Given the description of an element on the screen output the (x, y) to click on. 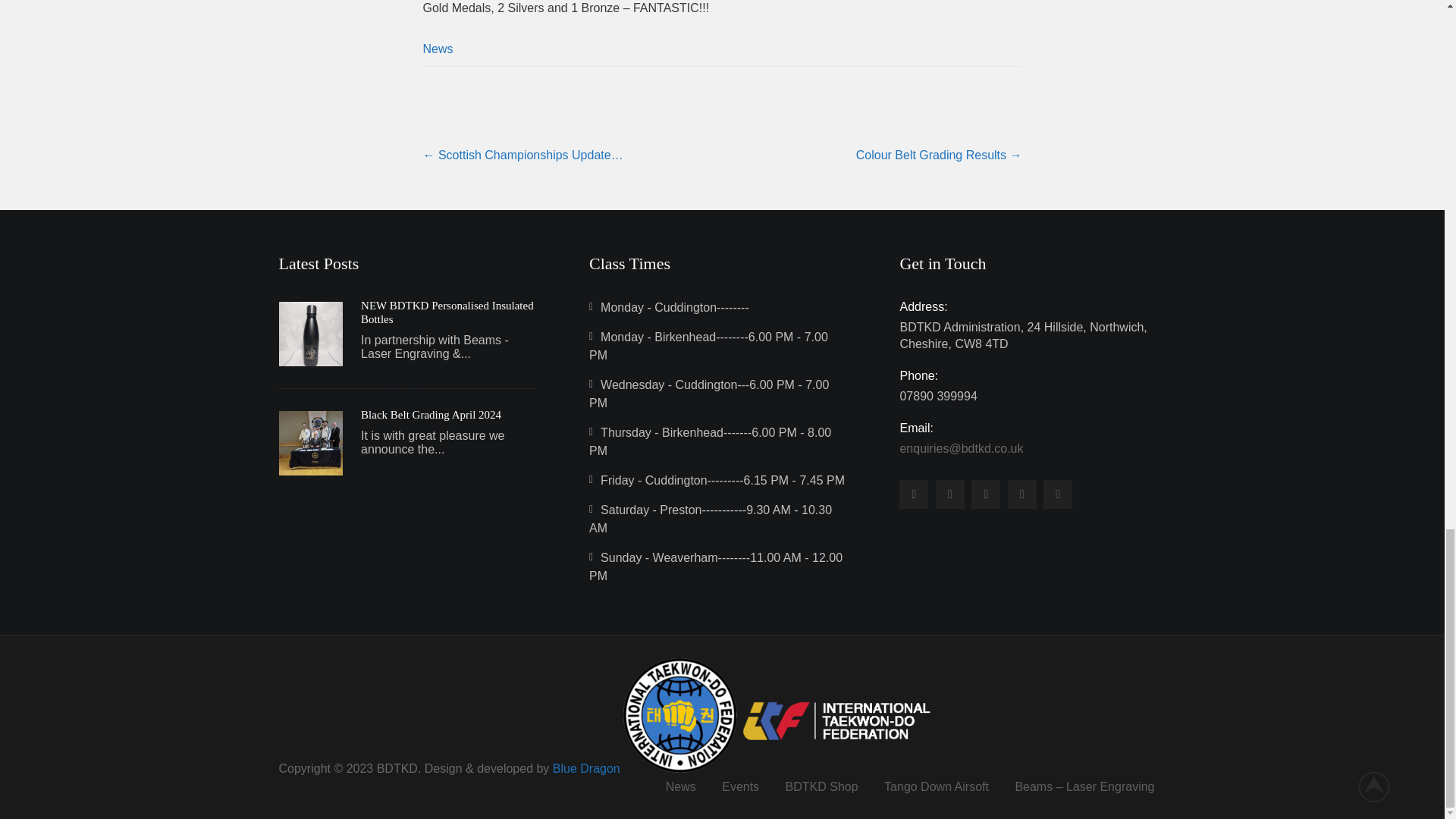
News (680, 787)
Black Belt Grading April 2024 (430, 414)
fab fa-twitter (913, 493)
NEW BDTKD Personalised Insulated Bottles (448, 311)
fab fa-facebook-f (949, 493)
fab fa-facebook-f (1057, 493)
BDTKD Shop (821, 787)
fab fa-facebook-f (985, 493)
Blue Dragon (586, 768)
News (437, 48)
